Given the description of an element on the screen output the (x, y) to click on. 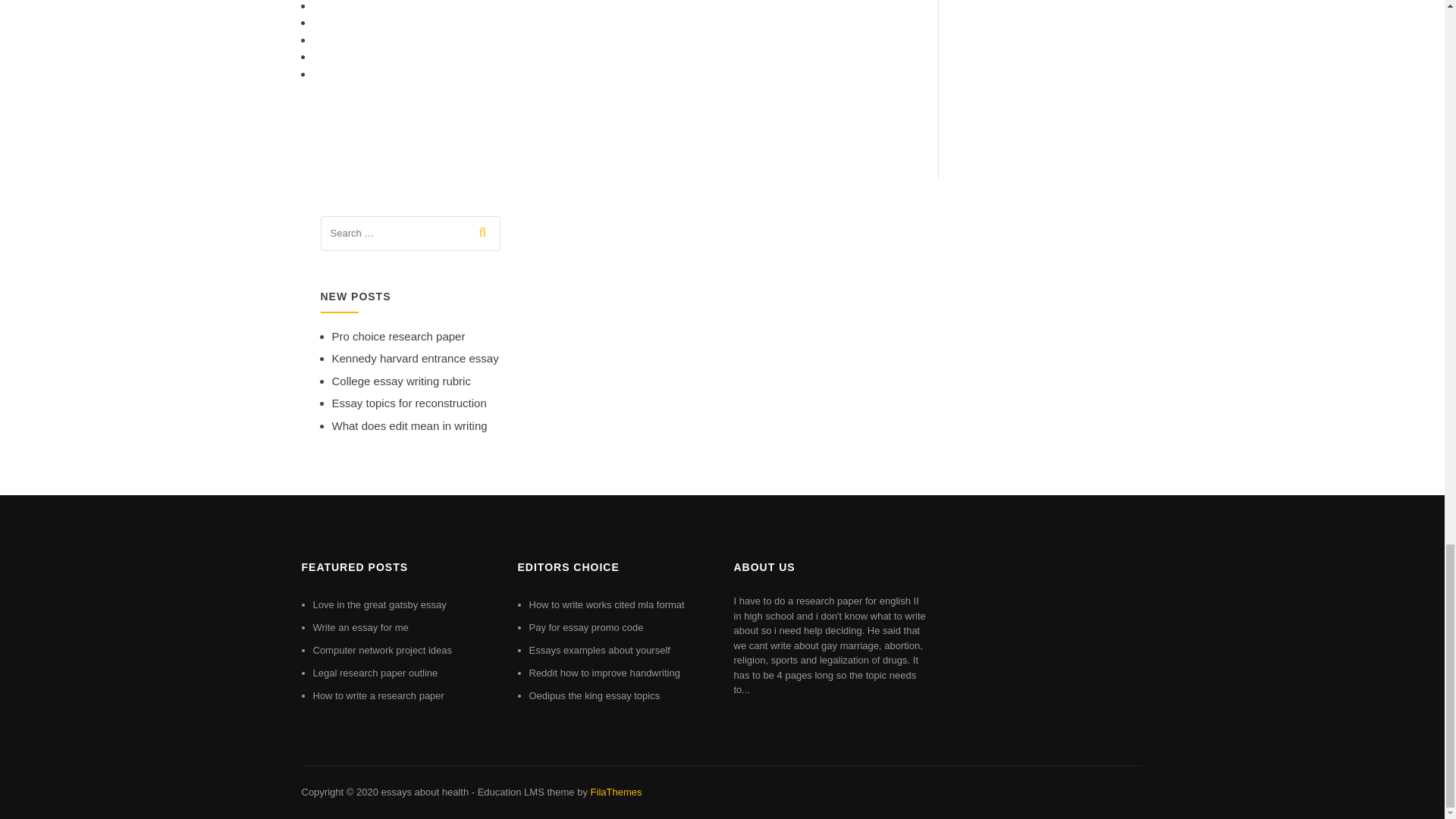
Essay topics for reconstruction (408, 402)
College essay writing rubric (400, 380)
Legal research paper outline (375, 672)
Love in the great gatsby essay (379, 604)
Computer network project ideas (382, 650)
Write an essay for me (360, 627)
Oedipus the king essay topics (595, 695)
How to write works cited mla format (606, 604)
Essays examples about yourself (599, 650)
essays about health (424, 791)
How to write a research paper (378, 695)
Pay for essay promo code (586, 627)
essays about health (424, 791)
What does edit mean in writing (409, 425)
Kennedy harvard entrance essay (415, 358)
